Given the description of an element on the screen output the (x, y) to click on. 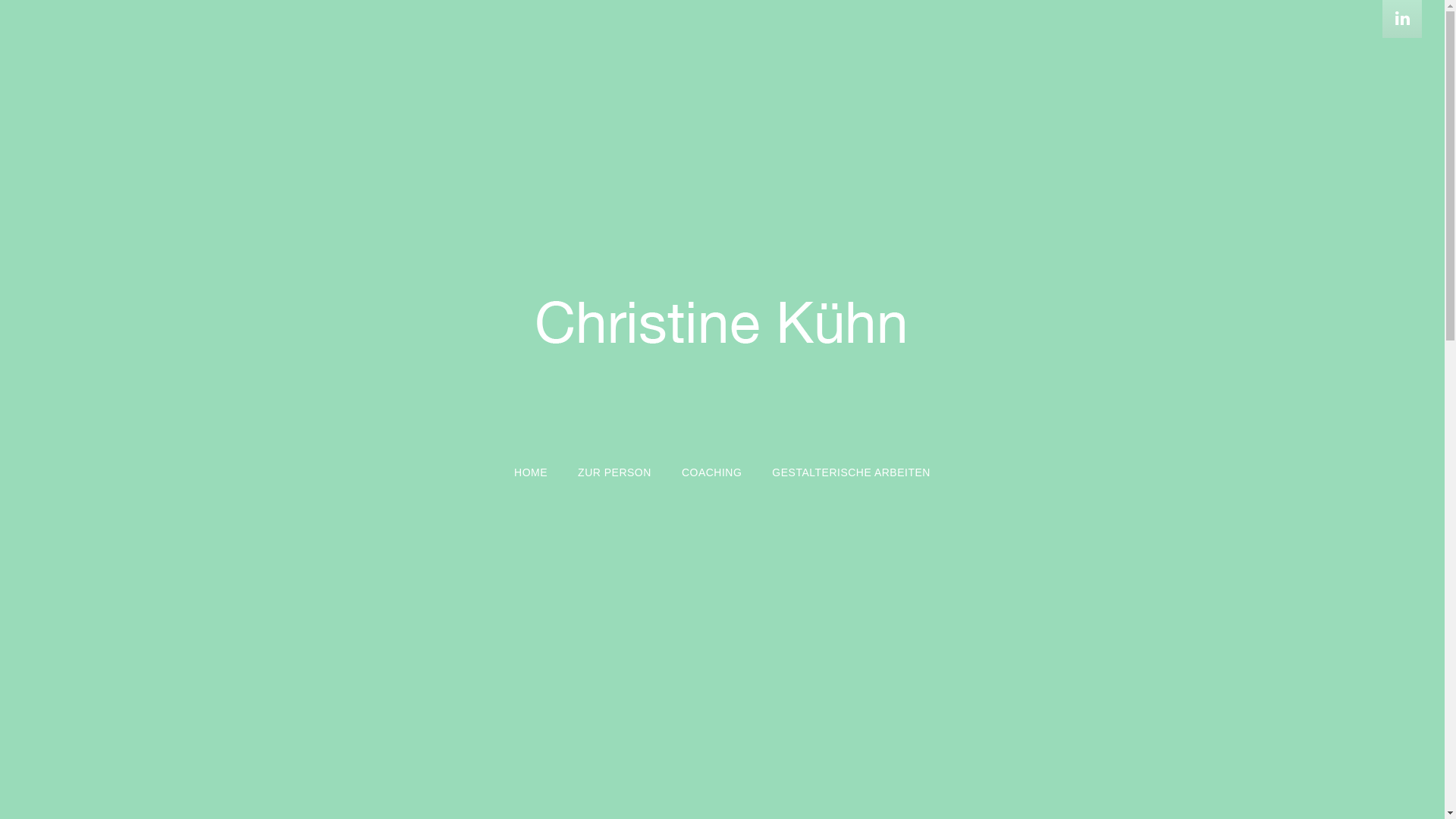
GESTALTERISCHE ARBEITEN Element type: text (850, 453)
LinkedIn Element type: hover (1402, 18)
ZUR PERSON Element type: text (614, 453)
COACHING Element type: text (711, 453)
HOME Element type: text (530, 453)
